Given the description of an element on the screen output the (x, y) to click on. 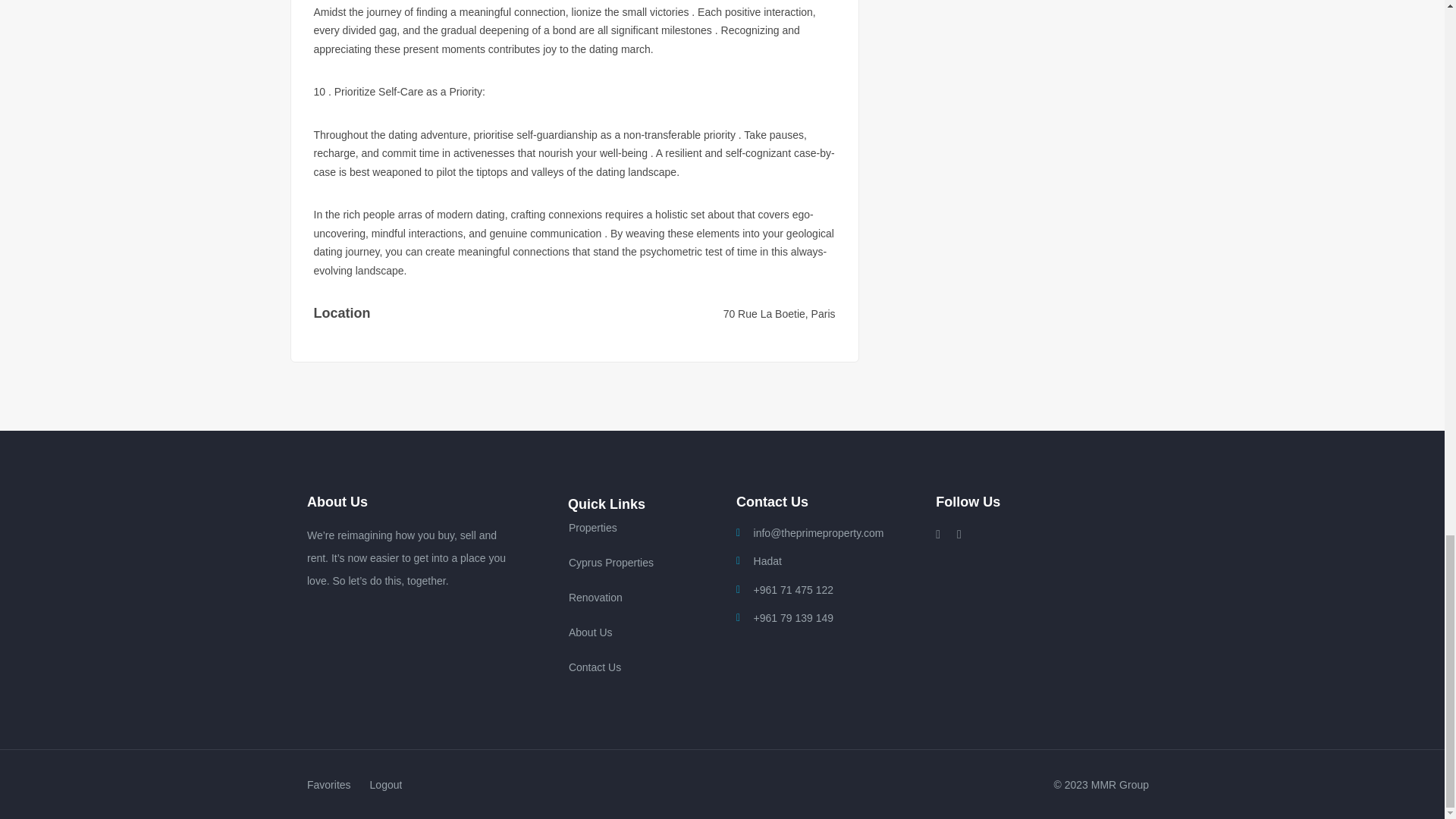
70 Rue La Boetie, Paris (779, 313)
